Given the description of an element on the screen output the (x, y) to click on. 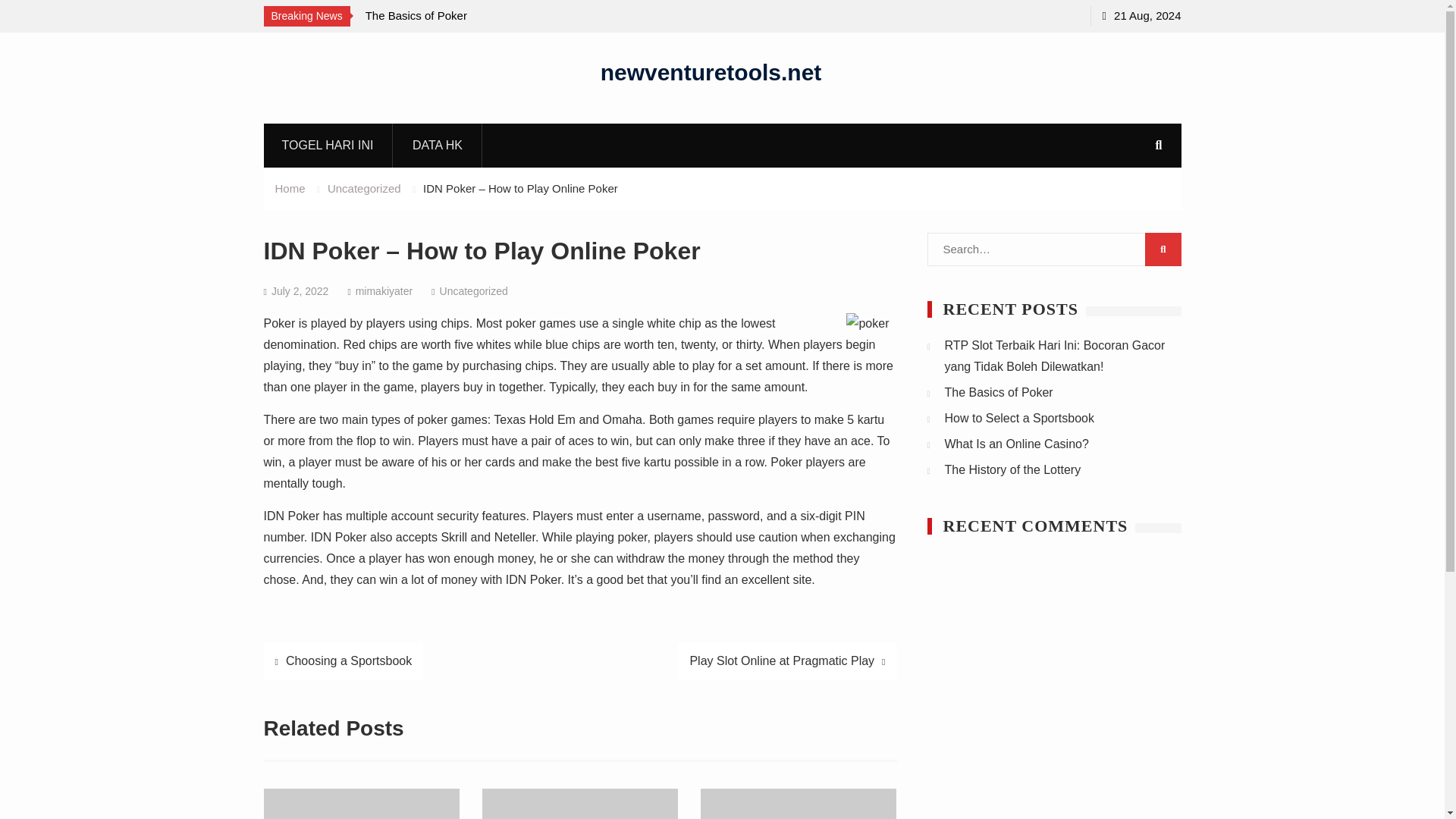
Search for: (1053, 249)
TOGEL HARI INI (327, 144)
newventuretools.net (710, 71)
The History of the Lottery (1012, 469)
The Basics of Poker (998, 391)
What Is an Online Casino? (1016, 443)
Uncategorized (473, 291)
Uncategorized (364, 187)
Choosing a Sportsbook (343, 660)
